Given the description of an element on the screen output the (x, y) to click on. 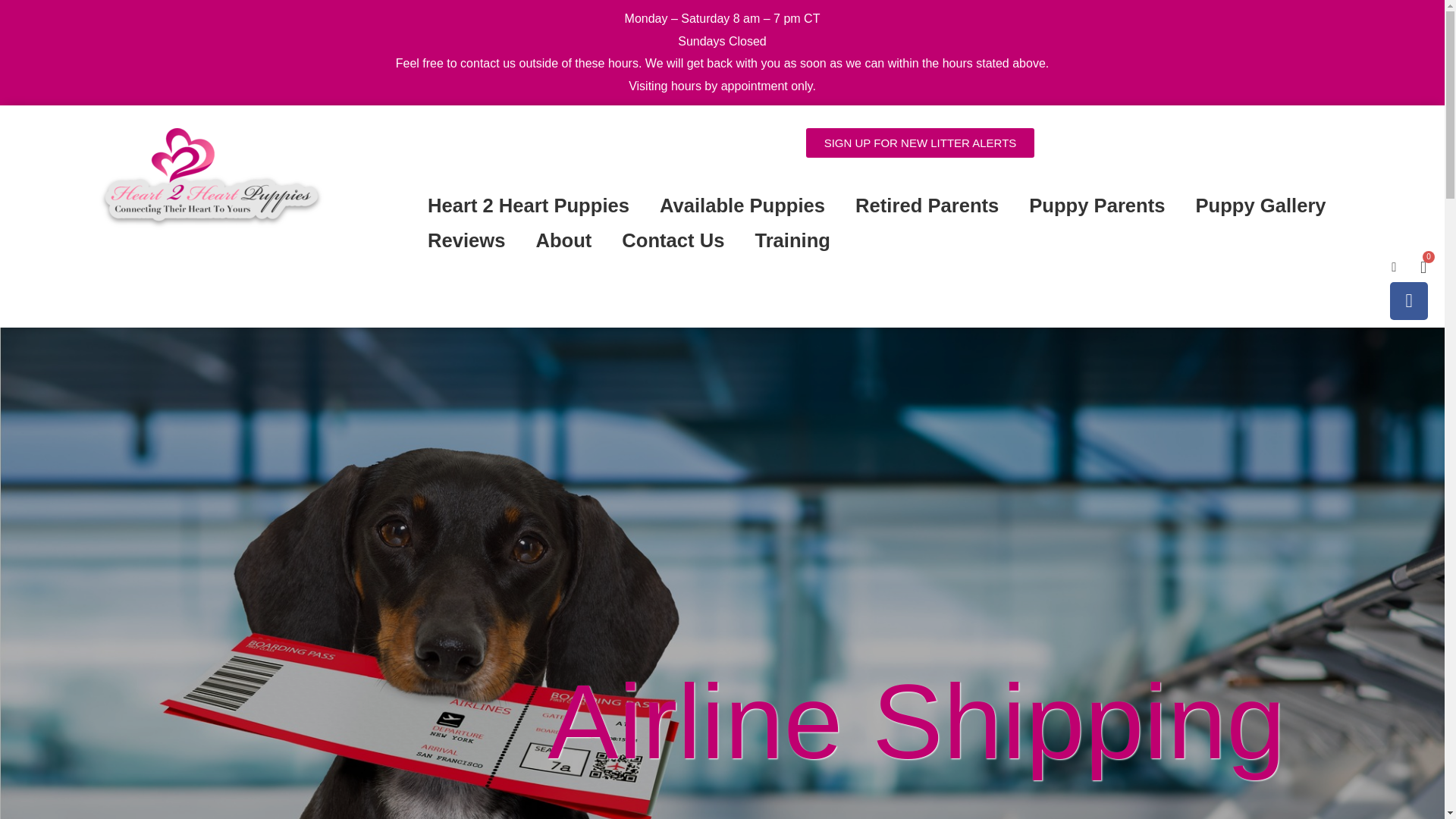
Puppy Gallery (1259, 205)
Reviews (465, 239)
Puppy Parents (1096, 205)
Facebook (1409, 300)
Contact Us (673, 239)
Heart 2 Heart Puppies (528, 205)
Available Puppies (742, 205)
About (563, 239)
SIGN UP FOR NEW LITTER ALERTS (920, 142)
Training (792, 239)
